Given the description of an element on the screen output the (x, y) to click on. 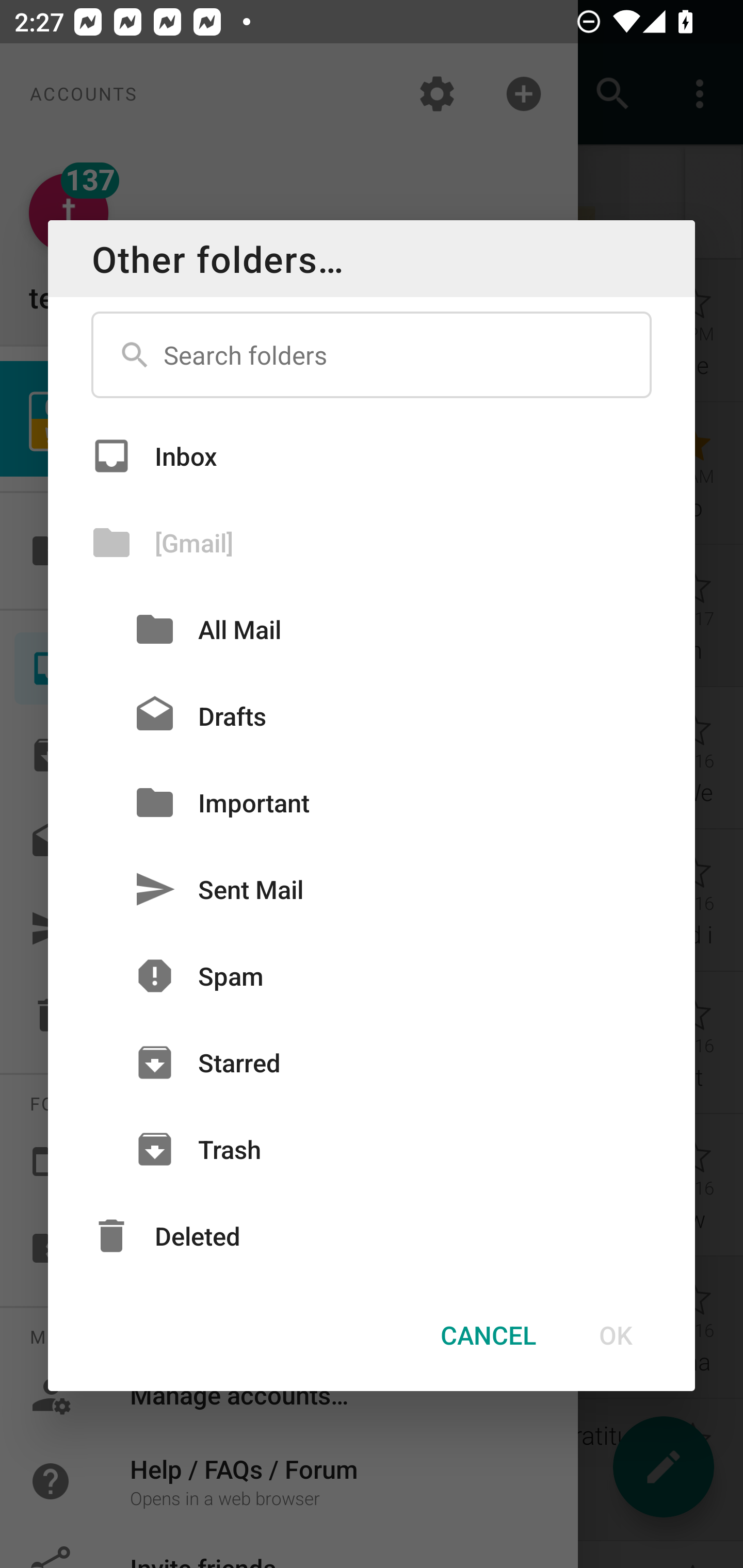
Inbox (371, 455)
All Mail (371, 629)
Drafts (371, 715)
Important (371, 801)
Sent Mail (371, 888)
Spam (371, 975)
Starred (371, 1062)
Trash (371, 1149)
Deleted (371, 1236)
CANCEL (488, 1334)
OK (615, 1334)
